Given the description of an element on the screen output the (x, y) to click on. 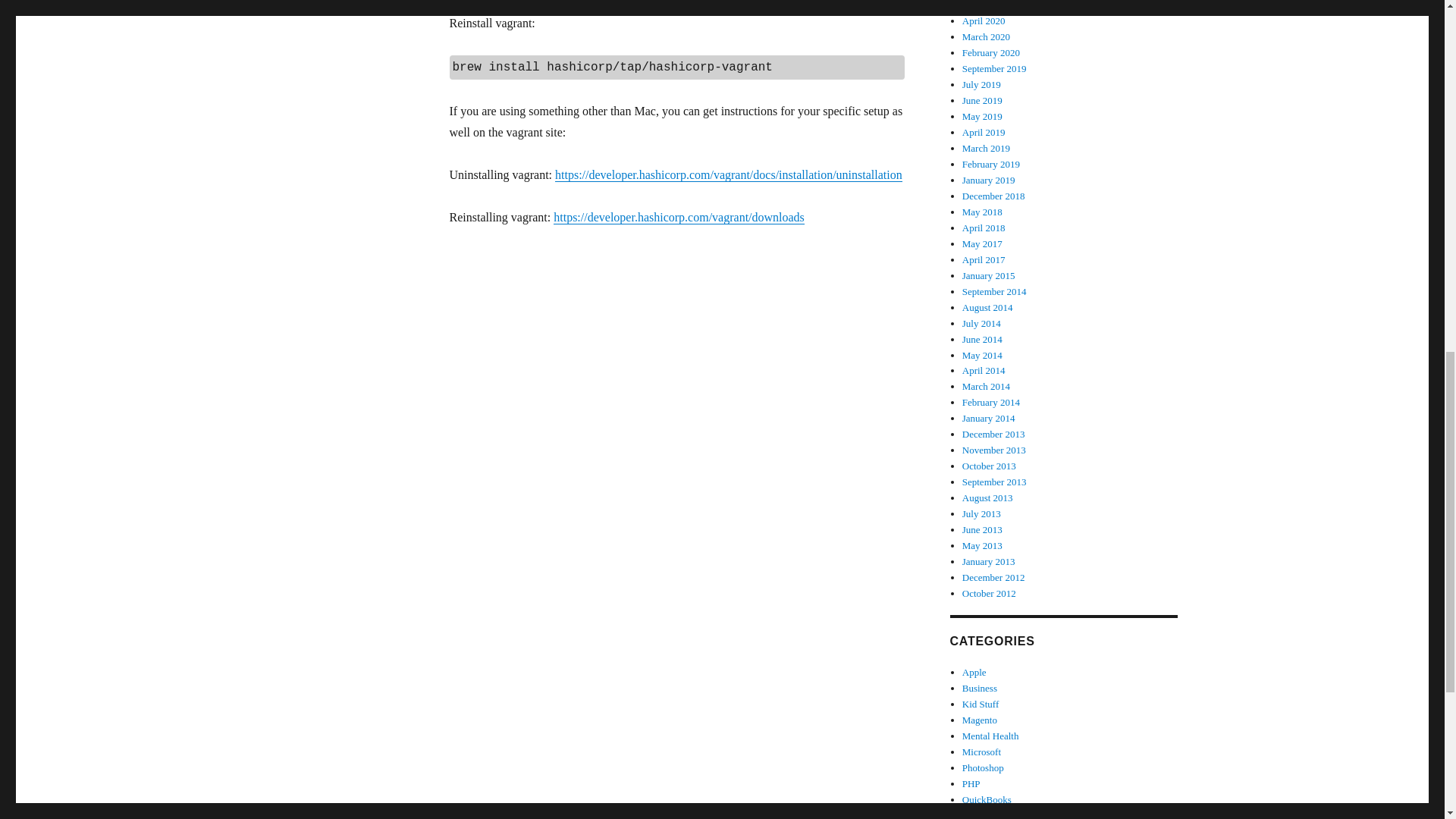
March 2020 (986, 36)
February 2020 (991, 52)
April 2020 (984, 20)
September 2019 (994, 68)
May 2020 (982, 5)
